Given the description of an element on the screen output the (x, y) to click on. 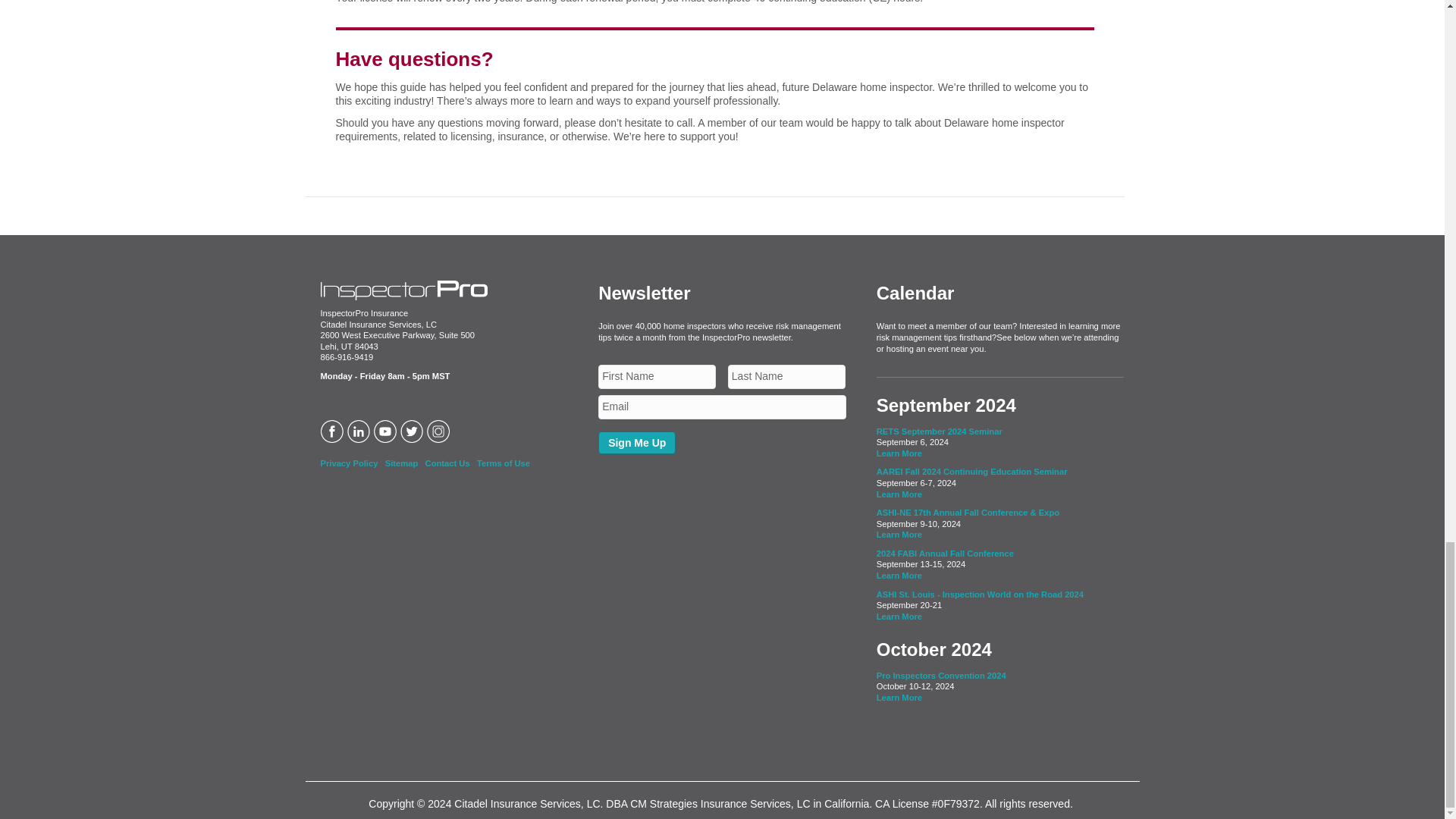
Twitter (413, 429)
YouTube (385, 429)
Instagram (439, 429)
LinkedIn (360, 429)
Facebook (333, 429)
Sign Me Up (636, 443)
footer-logo (403, 290)
